Given the description of an element on the screen output the (x, y) to click on. 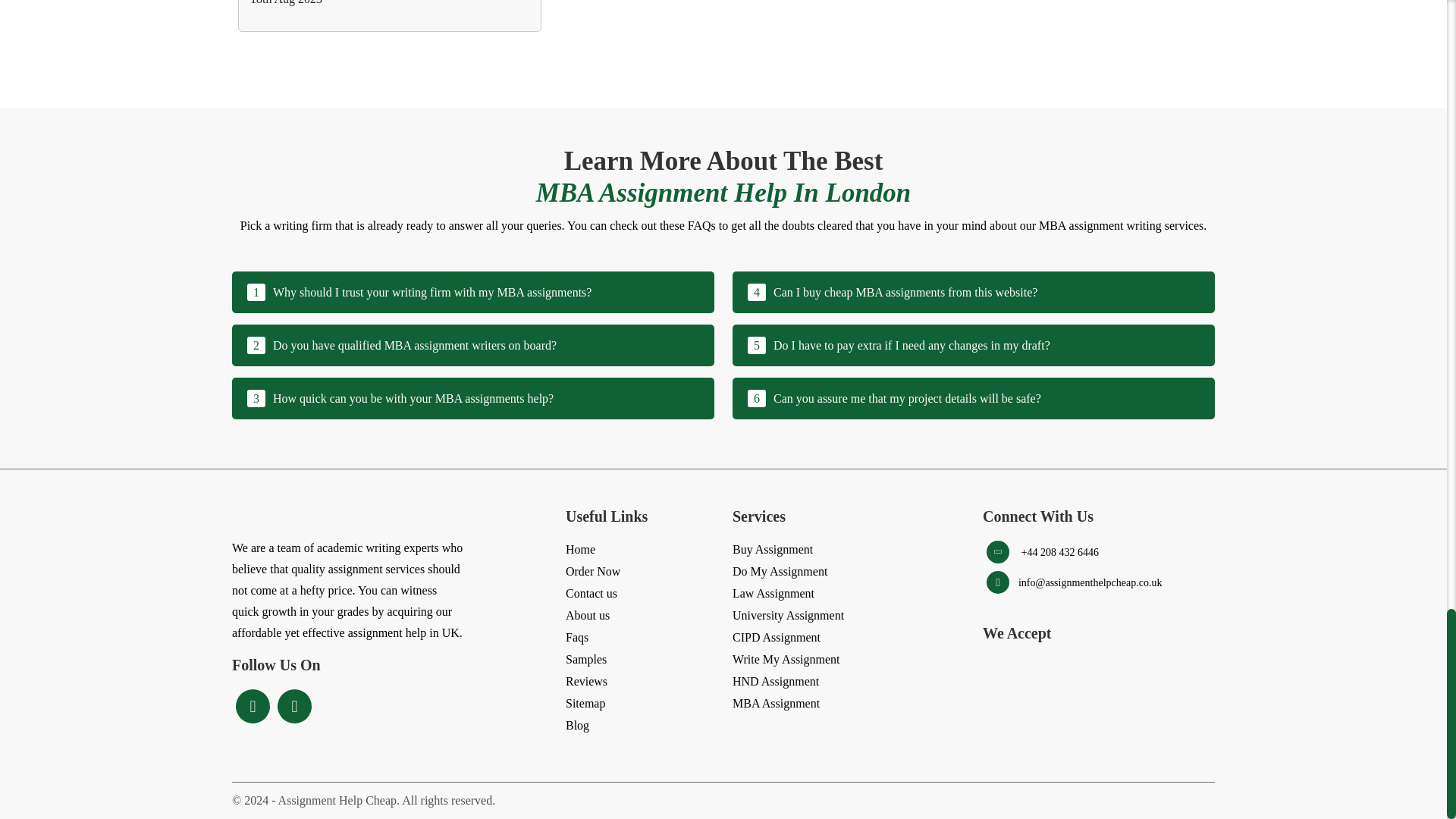
Reviews (586, 681)
Home (580, 549)
Brands Whatsapp (294, 707)
Buy Assignment (772, 549)
Samples (586, 659)
Brands Facebook (252, 707)
Law Assignment (973, 398)
About us (772, 593)
Do My Assignment (472, 398)
Order Now (973, 291)
